Given the description of an element on the screen output the (x, y) to click on. 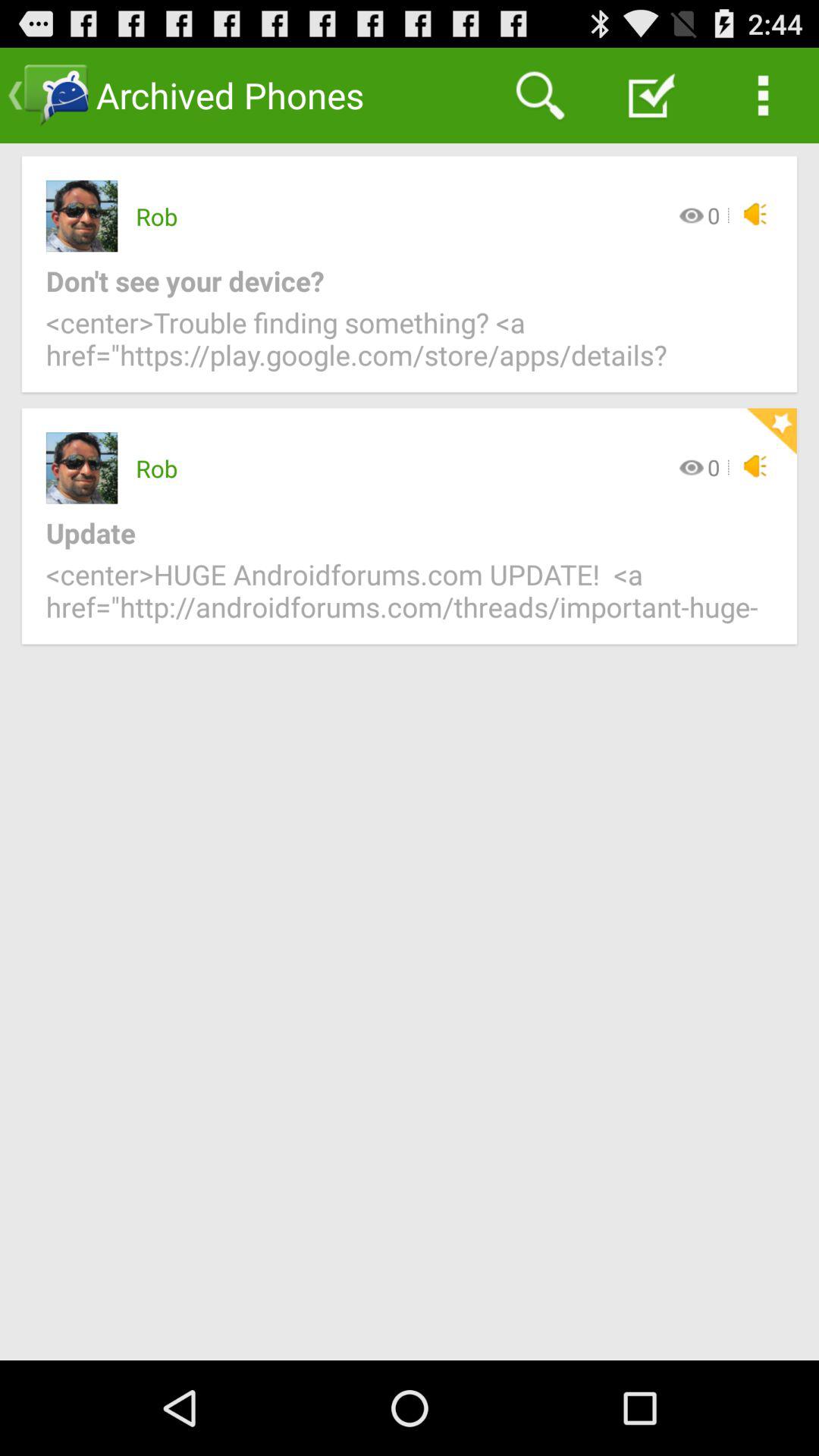
swipe until the center trouble finding item (409, 347)
